Given the description of an element on the screen output the (x, y) to click on. 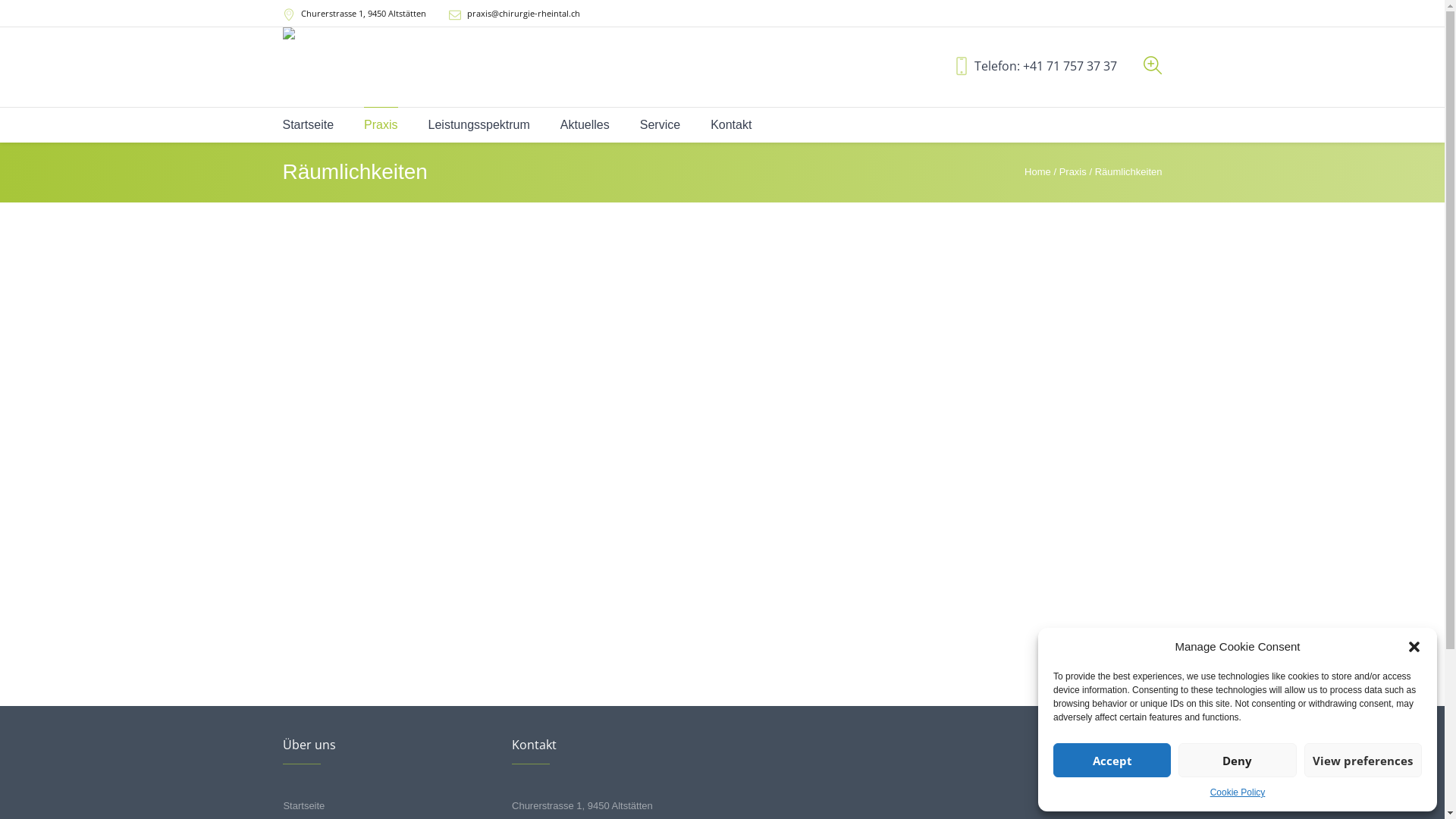
Kontakt Element type: text (730, 124)
Leistungsspektrum Element type: text (479, 124)
Deny Element type: text (1236, 760)
praxis@chirurgie-rheintal.ch Element type: text (523, 13)
View preferences Element type: text (1362, 760)
Startseite Element type: text (307, 124)
Startseite Element type: text (303, 805)
Aktuelles Element type: text (584, 124)
Service Element type: text (660, 124)
Home Element type: text (1037, 171)
Praxis Element type: text (380, 124)
Telefon: +41 71 757 37 37 Element type: text (1044, 65)
Praxis Element type: text (1072, 171)
Cookie Policy Element type: text (1237, 792)
Accept Element type: text (1111, 760)
